Given the description of an element on the screen output the (x, y) to click on. 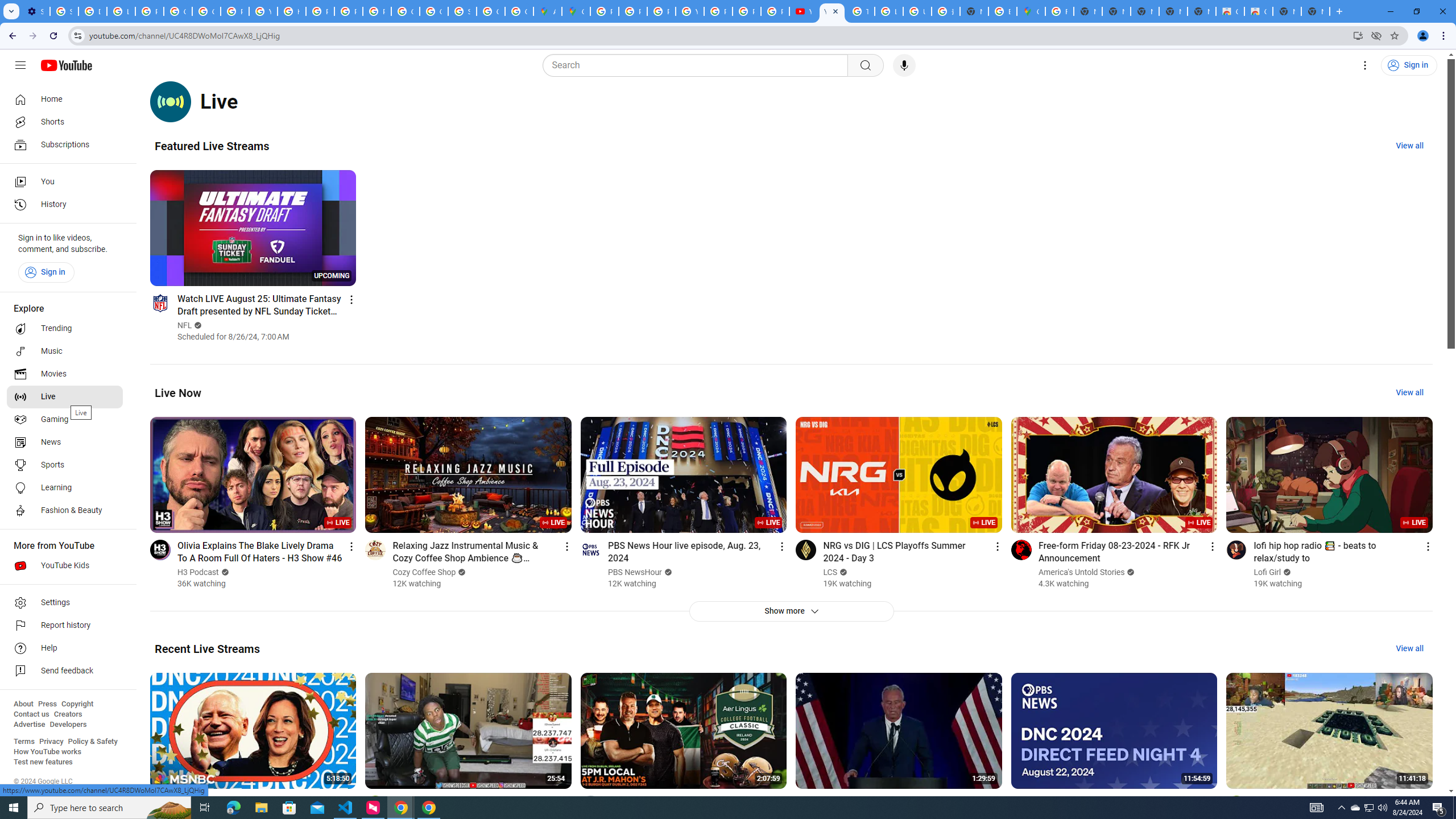
Sign in - Google Accounts (461, 11)
Settings - On startup (35, 11)
Search (697, 65)
Go to channel (1236, 805)
Shorts (64, 121)
Install YouTube (1358, 35)
New Tab (973, 11)
Gaming (64, 419)
